Given the description of an element on the screen output the (x, y) to click on. 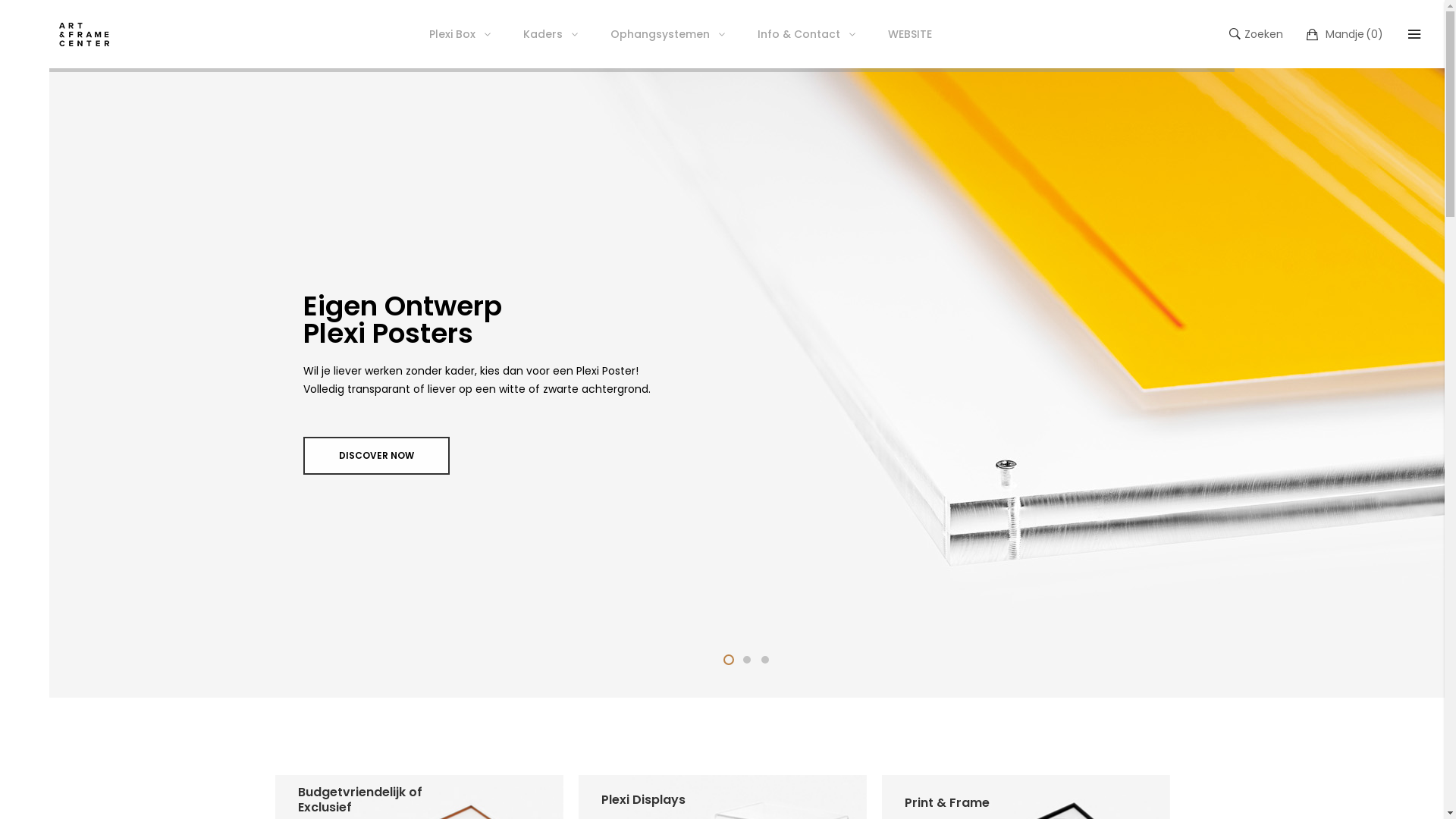
Info & Contact Element type: text (809, 34)
Kaders Element type: text (553, 34)
Ophangsystemen Element type: text (670, 34)
Mandje
(
0
) Element type: text (1345, 33)
Next Element type: text (1422, 403)
WEBSITE Element type: text (909, 34)
1 Element type: text (728, 659)
2 Element type: text (746, 659)
Prev Element type: text (110, 403)
3 Element type: text (764, 659)
DISCOVER NOW Element type: text (376, 455)
Plexi Box Element type: text (462, 34)
